Given the description of an element on the screen output the (x, y) to click on. 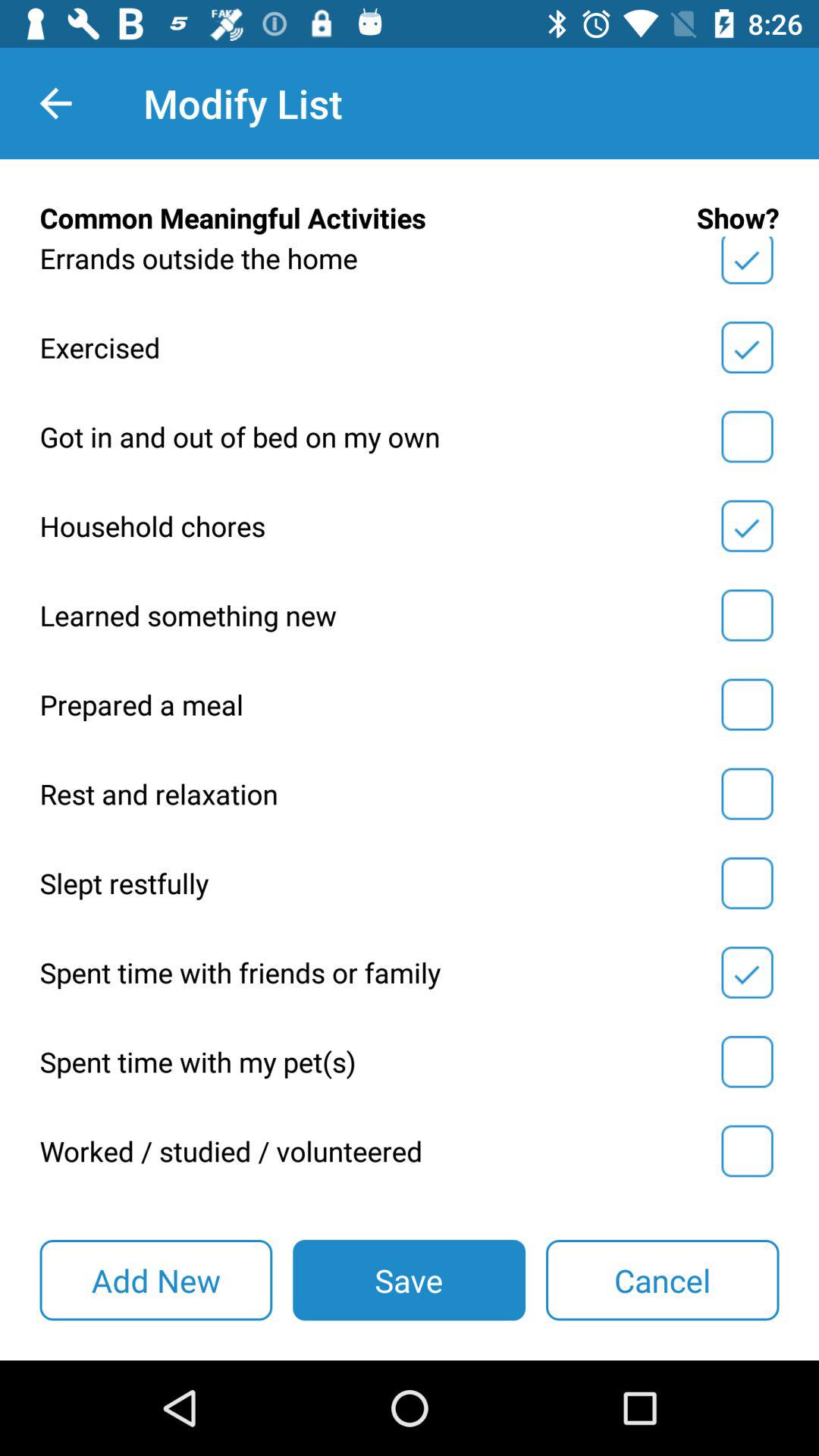
check/uncheck box to show/hide activity (747, 1061)
